Given the description of an element on the screen output the (x, y) to click on. 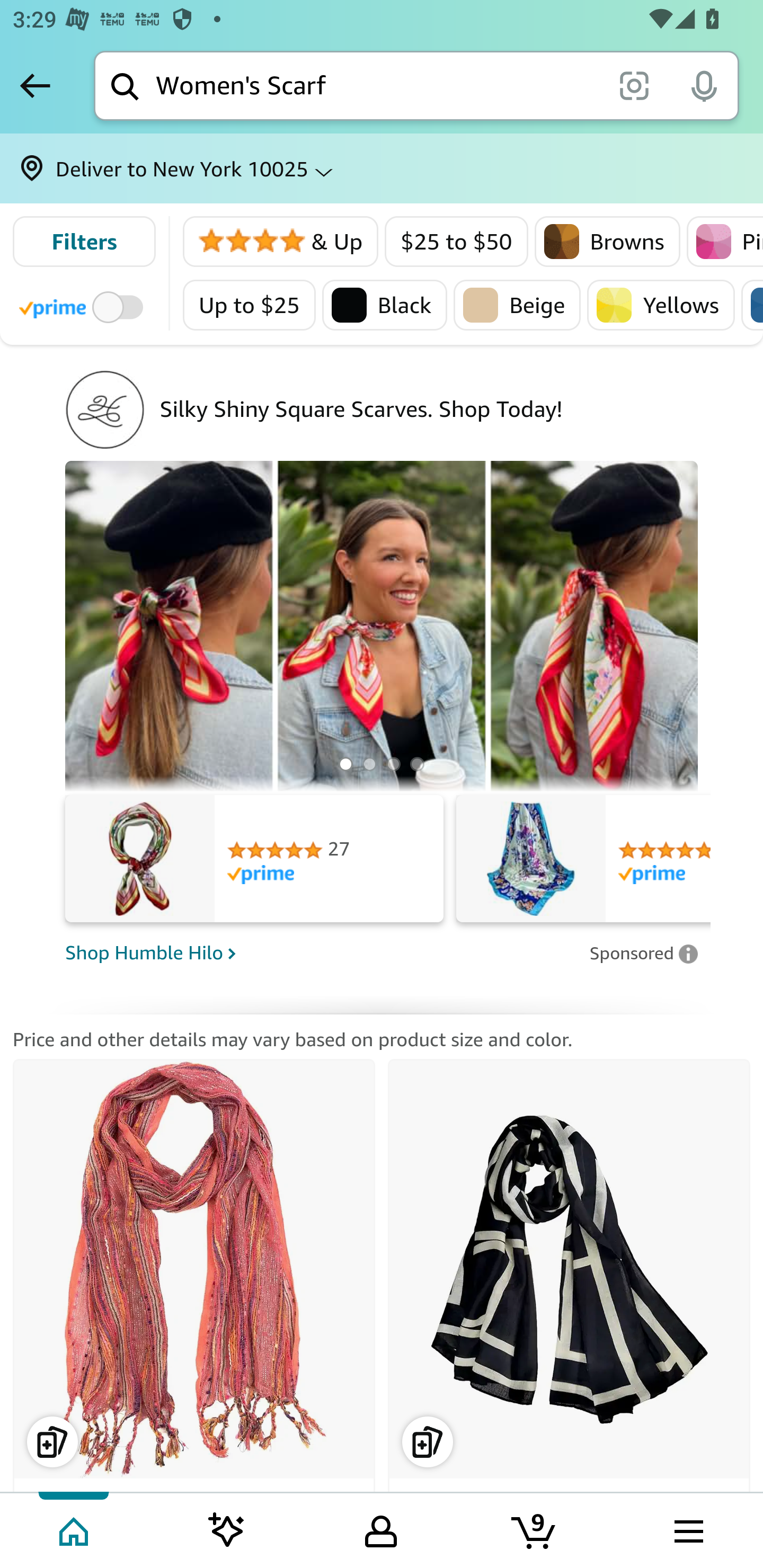
Back (35, 85)
scan it (633, 85)
Deliver to New York 10025 ⌵ (381, 168)
Filters (83, 241)
4 Stars & Up (281, 241)
$25 to $50 (456, 241)
Browns Browns Browns Browns (607, 241)
Pinks Pinks Pinks Pinks (724, 241)
Toggle to filter by Prime products Prime Eligible (83, 306)
Toggle to filter by Prime products Prime Eligible (81, 306)
Up to $25 (249, 304)
Black Black Black Black (384, 304)
Beige Beige Beige Beige (517, 304)
Yellows Yellows Yellows Yellows (661, 304)
Shop Humble Hilo Shop Humble  Hilo  (321, 952)
Leave feedback on Sponsored ad (643, 953)
Home Tab 1 of 5 (75, 1529)
Inspire feed Tab 2 of 5 (227, 1529)
Your Amazon.com Tab 3 of 5 (380, 1529)
Cart 9 items Tab 4 of 5 9 (534, 1529)
Browse menu Tab 5 of 5 (687, 1529)
